Given the description of an element on the screen output the (x, y) to click on. 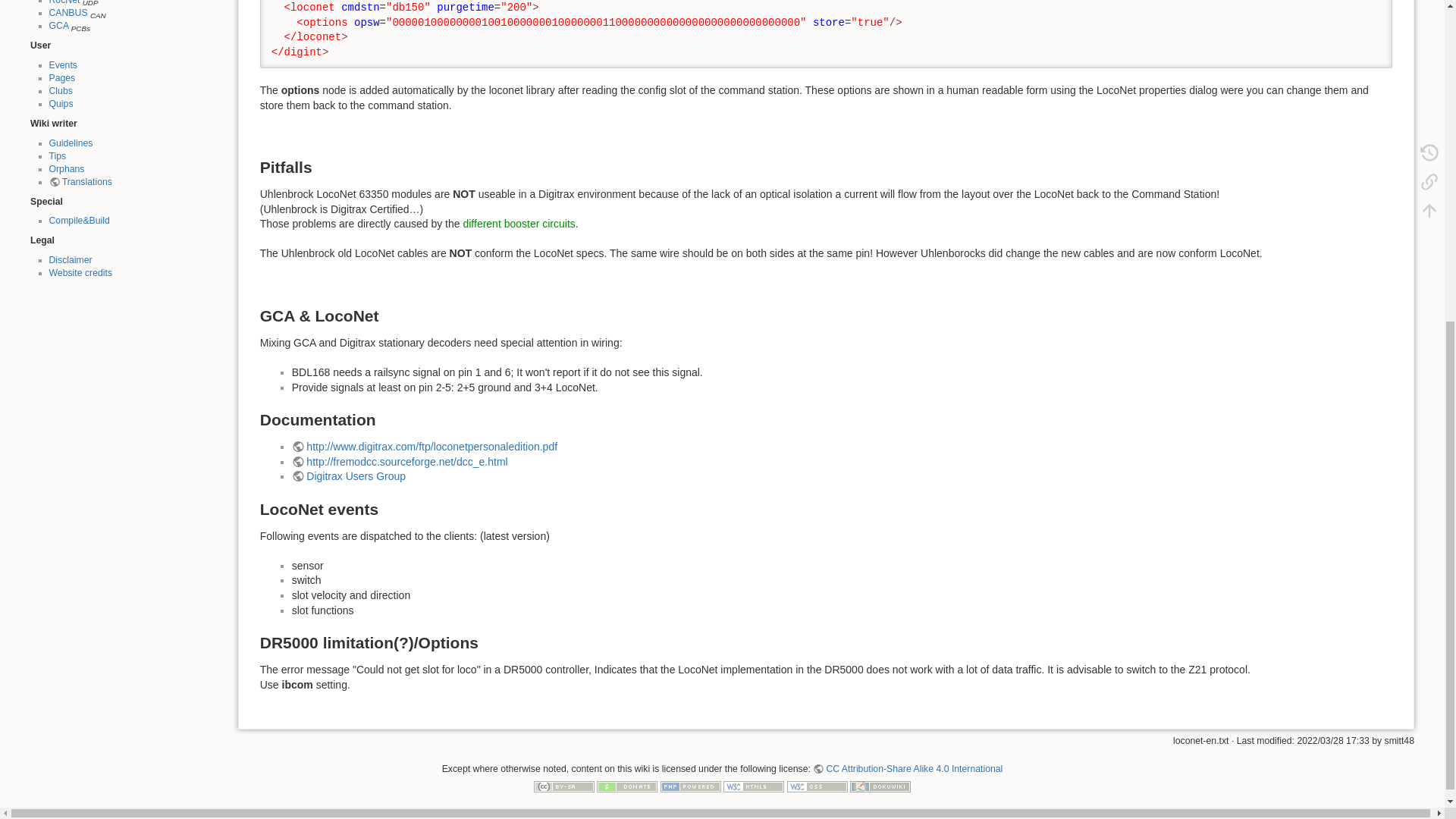
RocNet (64, 2)
Translations (80, 181)
Quips (60, 103)
Tips (56, 155)
Disclaimer (69, 259)
Guidelines (70, 143)
Orphans (66, 168)
Pages (61, 77)
CANBUS (67, 12)
GCA (58, 25)
Events (62, 64)
Clubs (59, 90)
